Given the description of an element on the screen output the (x, y) to click on. 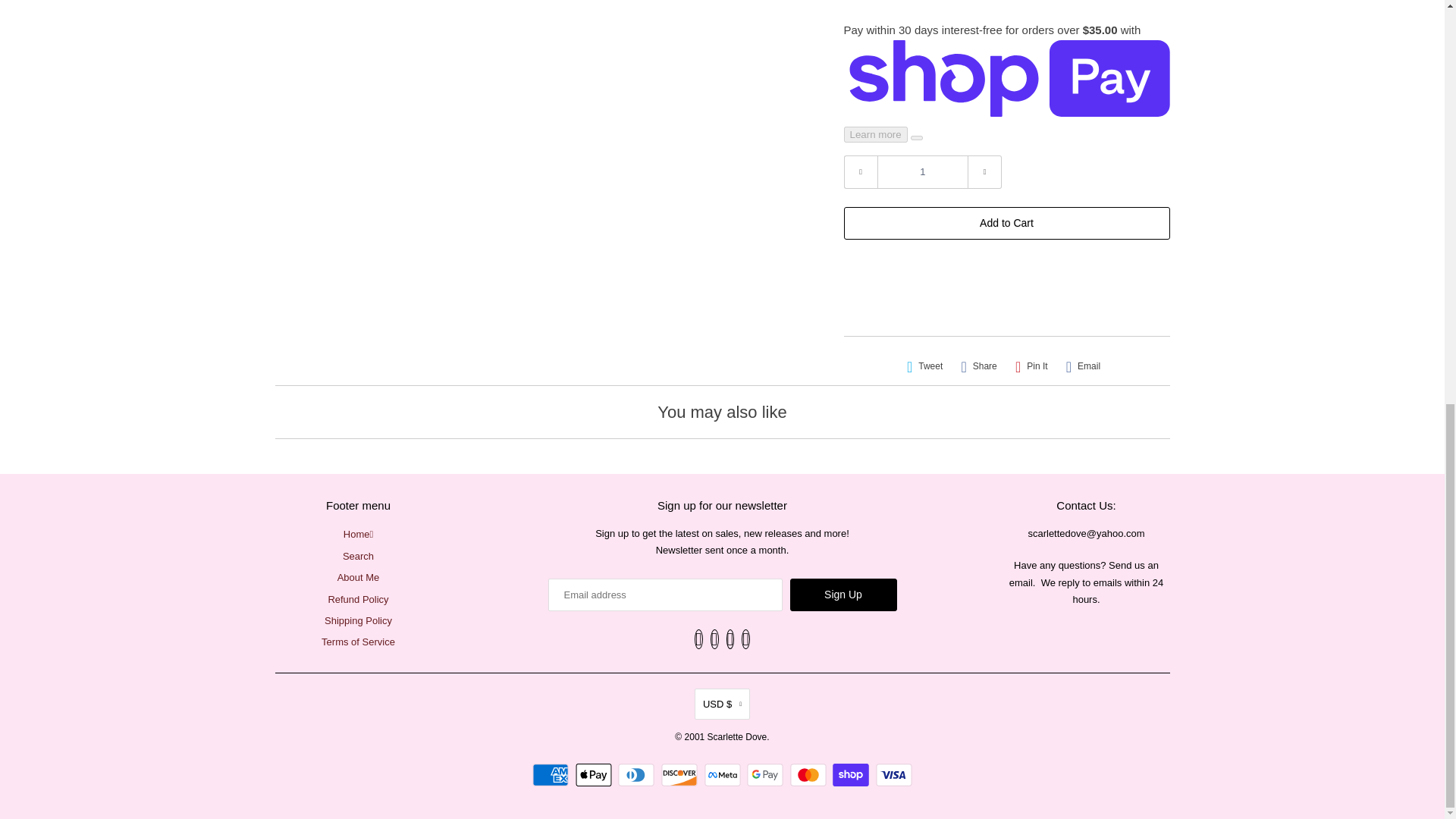
Email this to a friend (1083, 366)
Share this on Facebook (978, 366)
Sign Up (843, 594)
Mastercard (809, 774)
Apple Pay (595, 774)
Meta Pay (723, 774)
Scarlette Dove on Instagram (730, 639)
Share this on Pinterest (1031, 366)
Shop Pay (852, 774)
Google Pay (766, 774)
Scarlette Dove on Twitter (698, 639)
1 (922, 172)
American Express (552, 774)
Discover (681, 774)
Scarlette Dove on Facebook (714, 639)
